Given the description of an element on the screen output the (x, y) to click on. 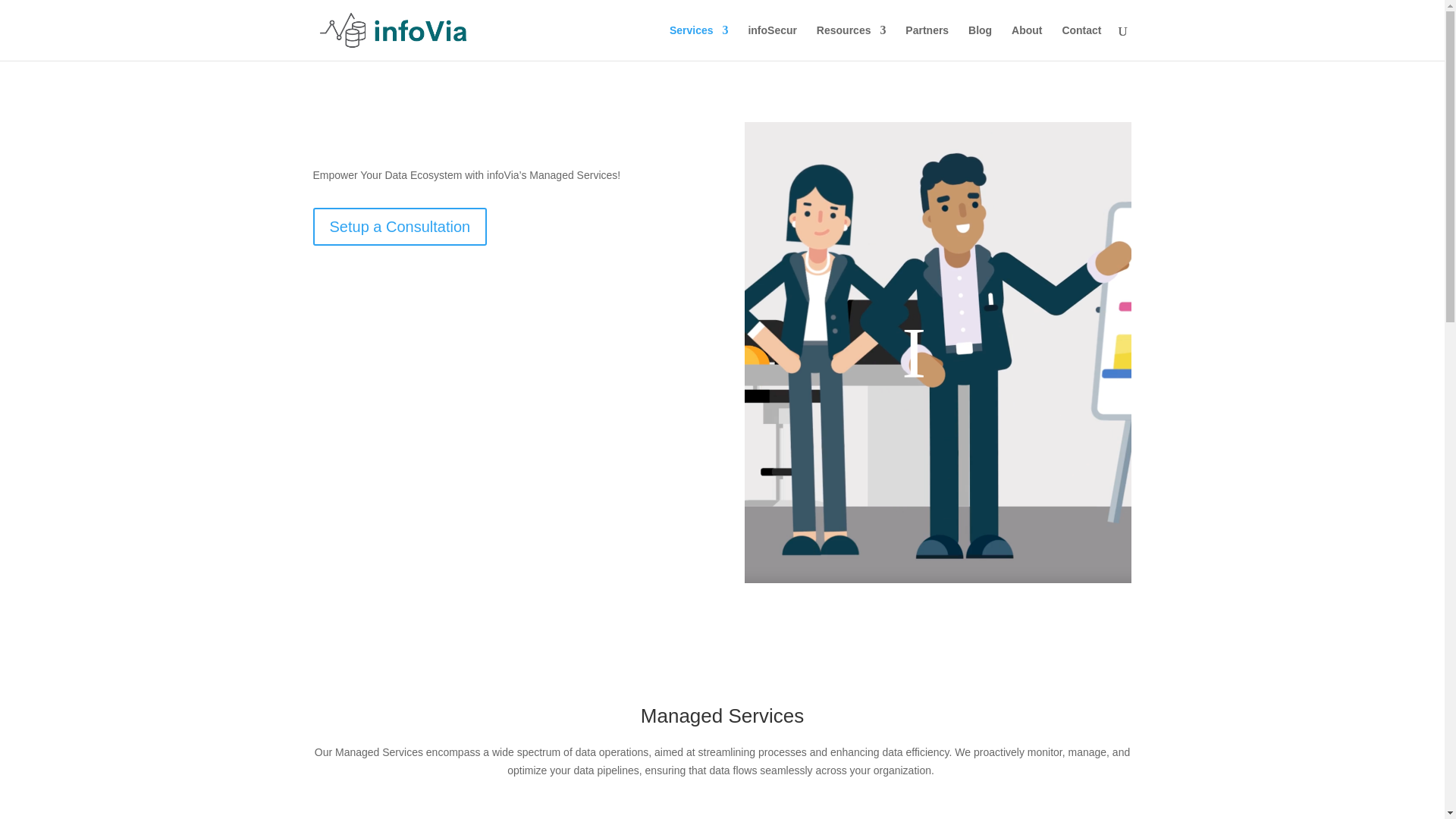
Contact (1080, 42)
Setup a Consultation (399, 226)
Resources (851, 42)
infoSecur (772, 42)
Services (699, 42)
Partners (927, 42)
